Given the description of an element on the screen output the (x, y) to click on. 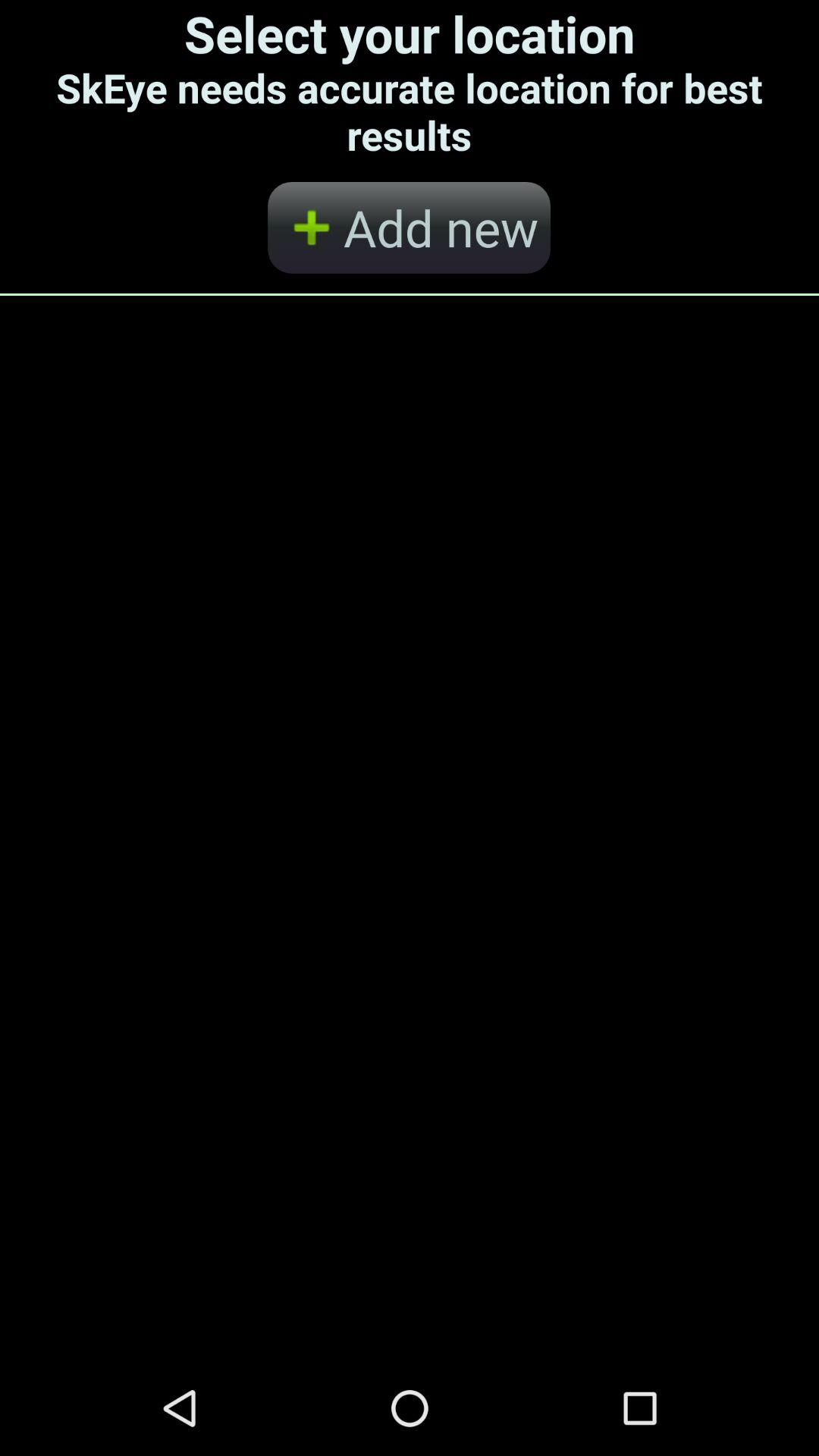
jump until add new icon (408, 227)
